Given the description of an element on the screen output the (x, y) to click on. 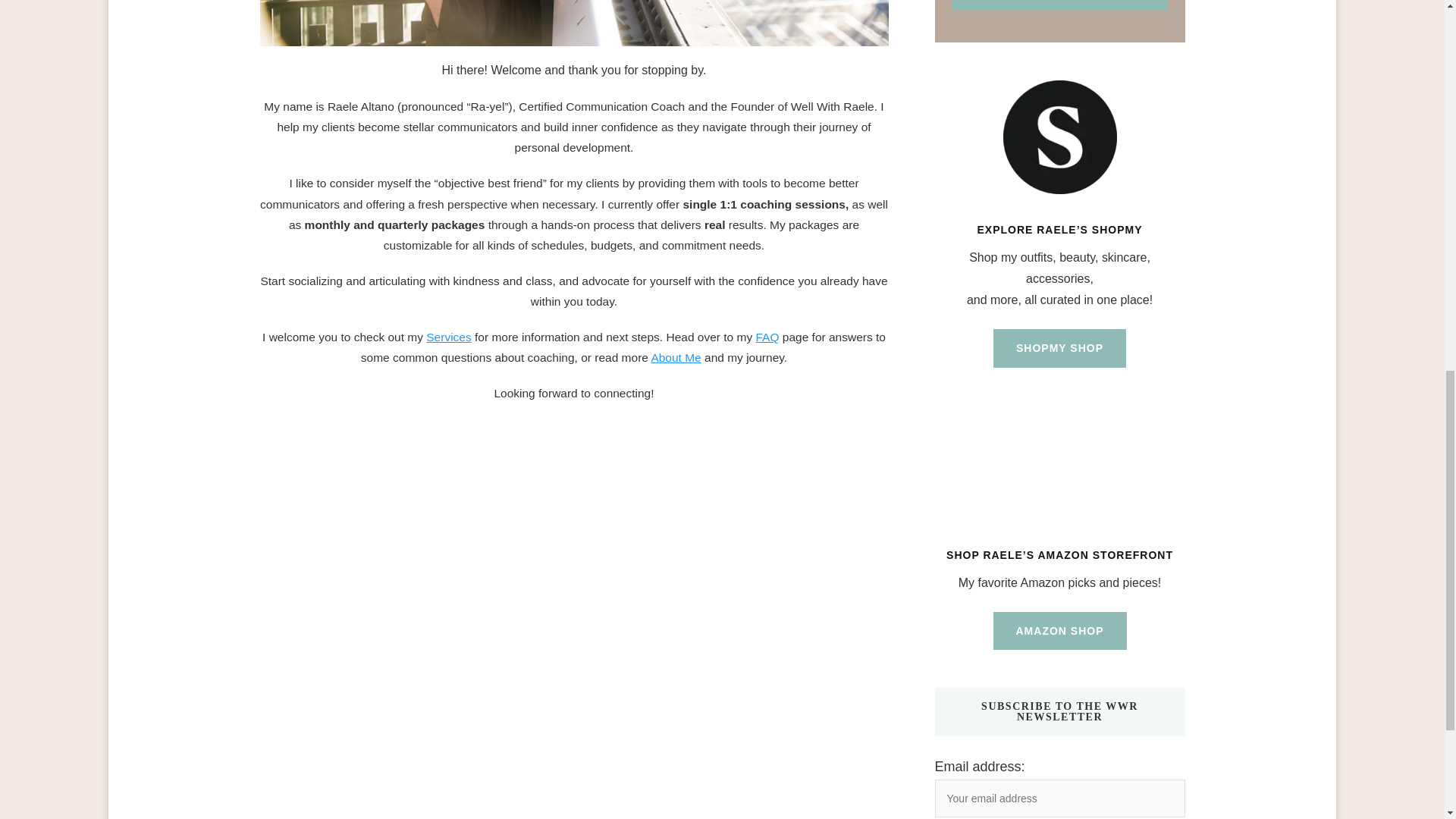
RAELE'S COACHING STOREFRONT (1059, 4)
FAQ (766, 336)
Services (448, 336)
AMAZON SHOP (1059, 630)
SHOPMY SHOP (1058, 348)
About Me (675, 357)
